Given the description of an element on the screen output the (x, y) to click on. 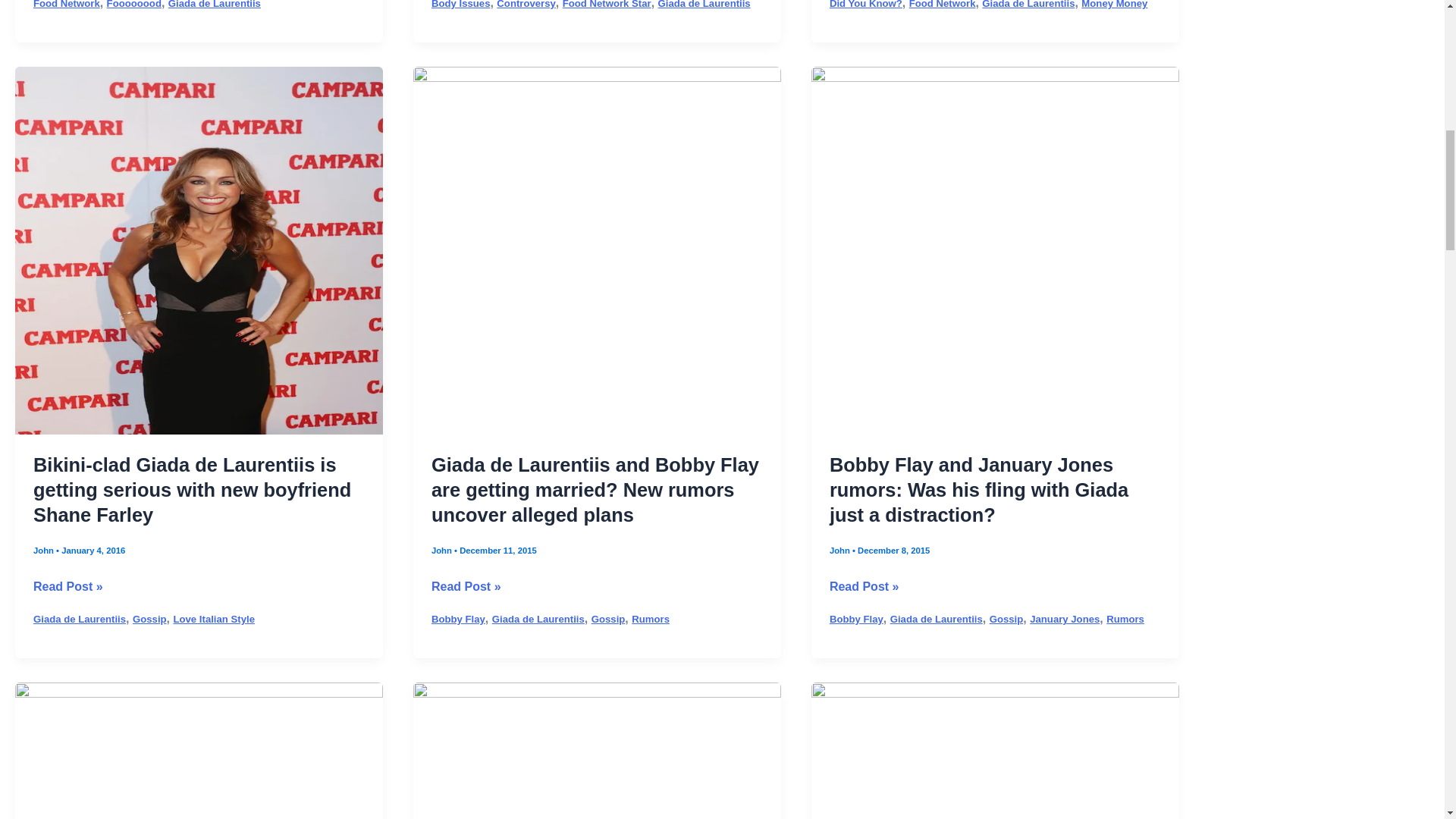
View all posts by John (840, 518)
View all posts by John (44, 518)
View all posts by John (442, 518)
